Given the description of an element on the screen output the (x, y) to click on. 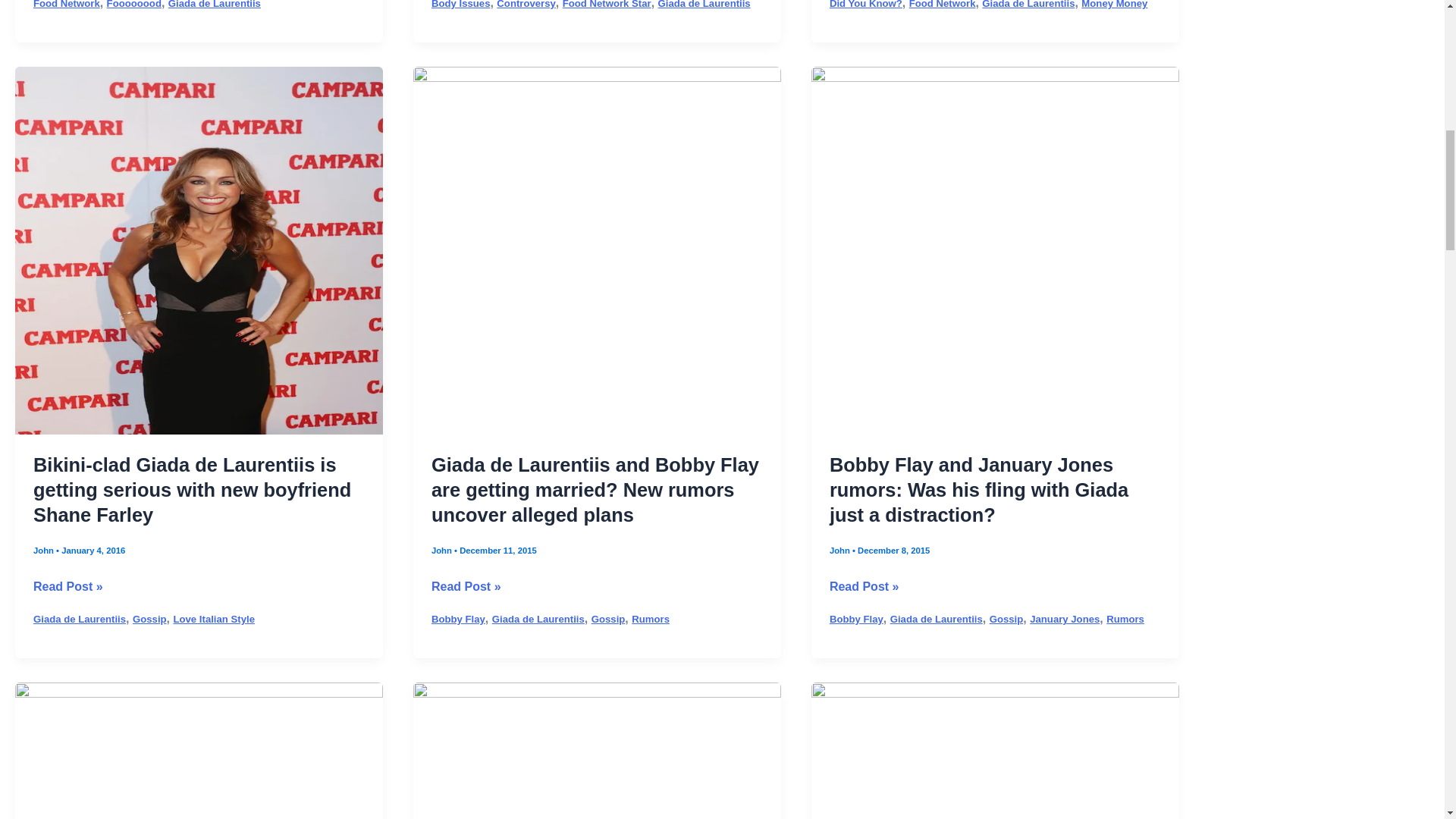
View all posts by John (840, 518)
View all posts by John (44, 518)
View all posts by John (442, 518)
